Given the description of an element on the screen output the (x, y) to click on. 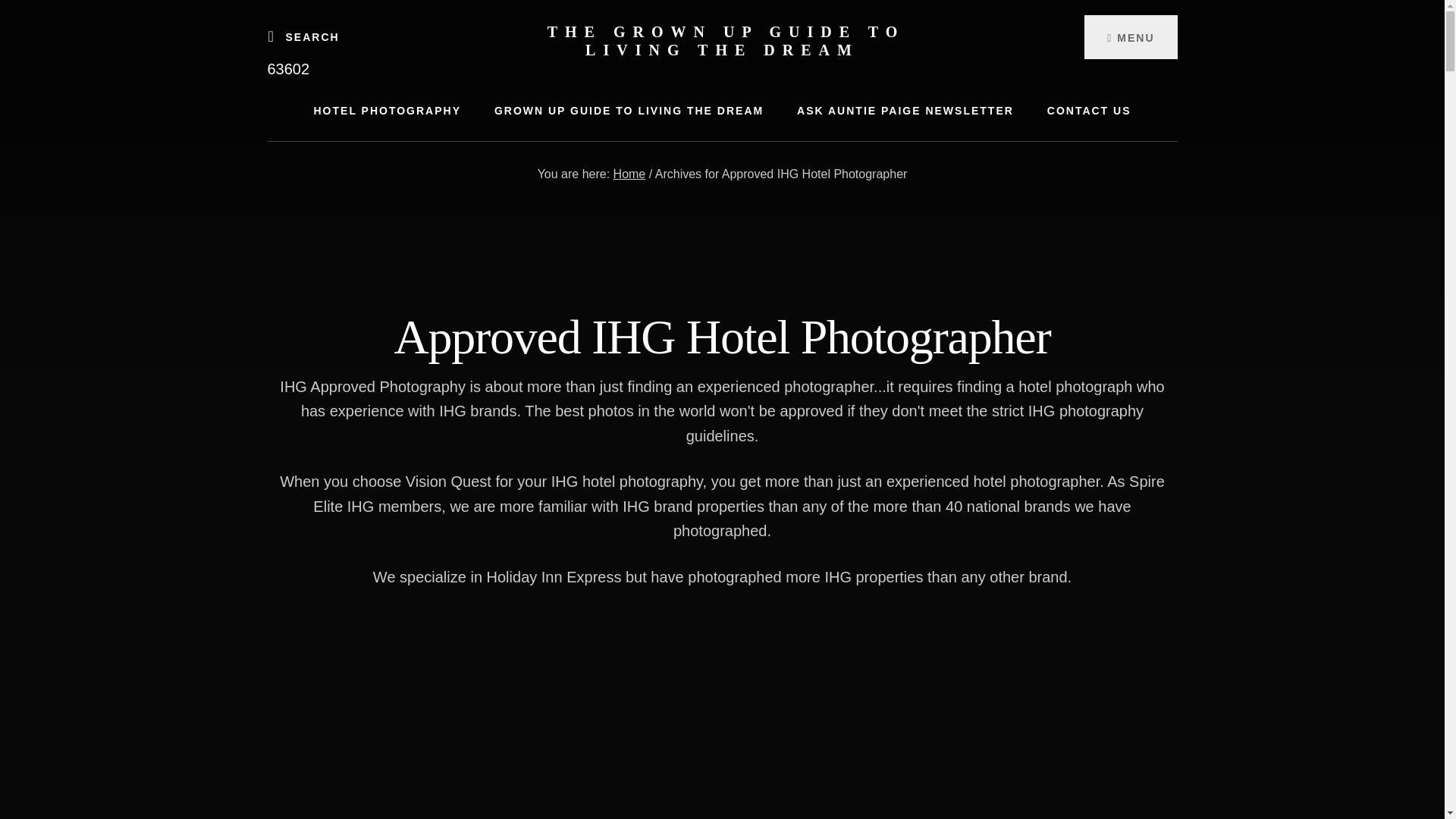
CONTACT US (1089, 110)
THE GROWN UP GUIDE TO LIVING THE DREAM (726, 40)
HOTEL PHOTOGRAPHY (387, 110)
Home (629, 173)
GROWN UP GUIDE TO LIVING THE DREAM (628, 110)
MENU (1130, 36)
ASK AUNTIE PAIGE NEWSLETTER (905, 110)
